Given the description of an element on the screen output the (x, y) to click on. 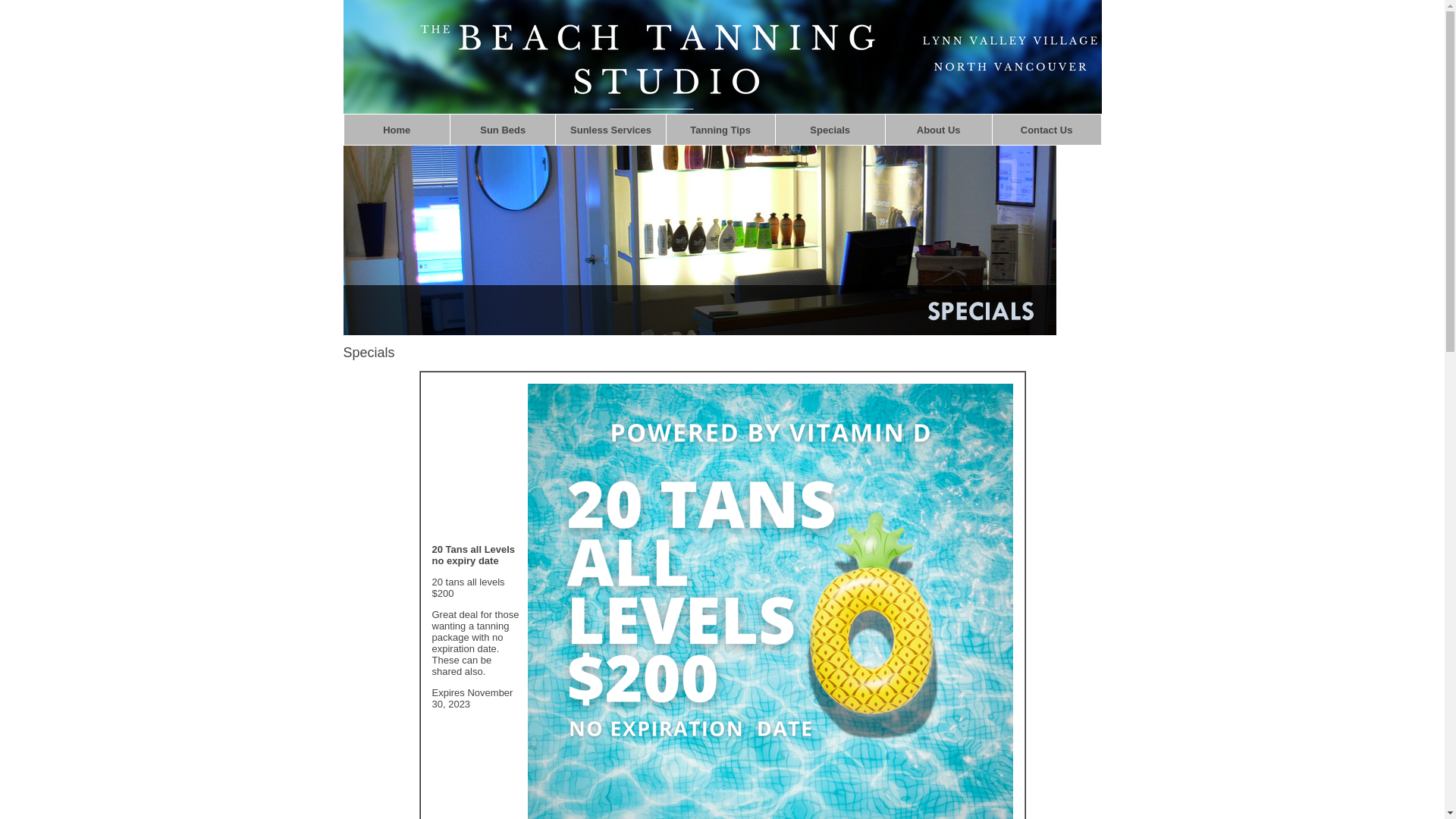
Home Element type: text (396, 129)
Sun Beds Element type: text (502, 129)
Contact Us Element type: text (1046, 129)
Specials Element type: text (829, 129)
Sunless Services Element type: text (610, 129)
Tanning Tips Element type: text (720, 129)
About Us Element type: text (938, 129)
